Given the description of an element on the screen output the (x, y) to click on. 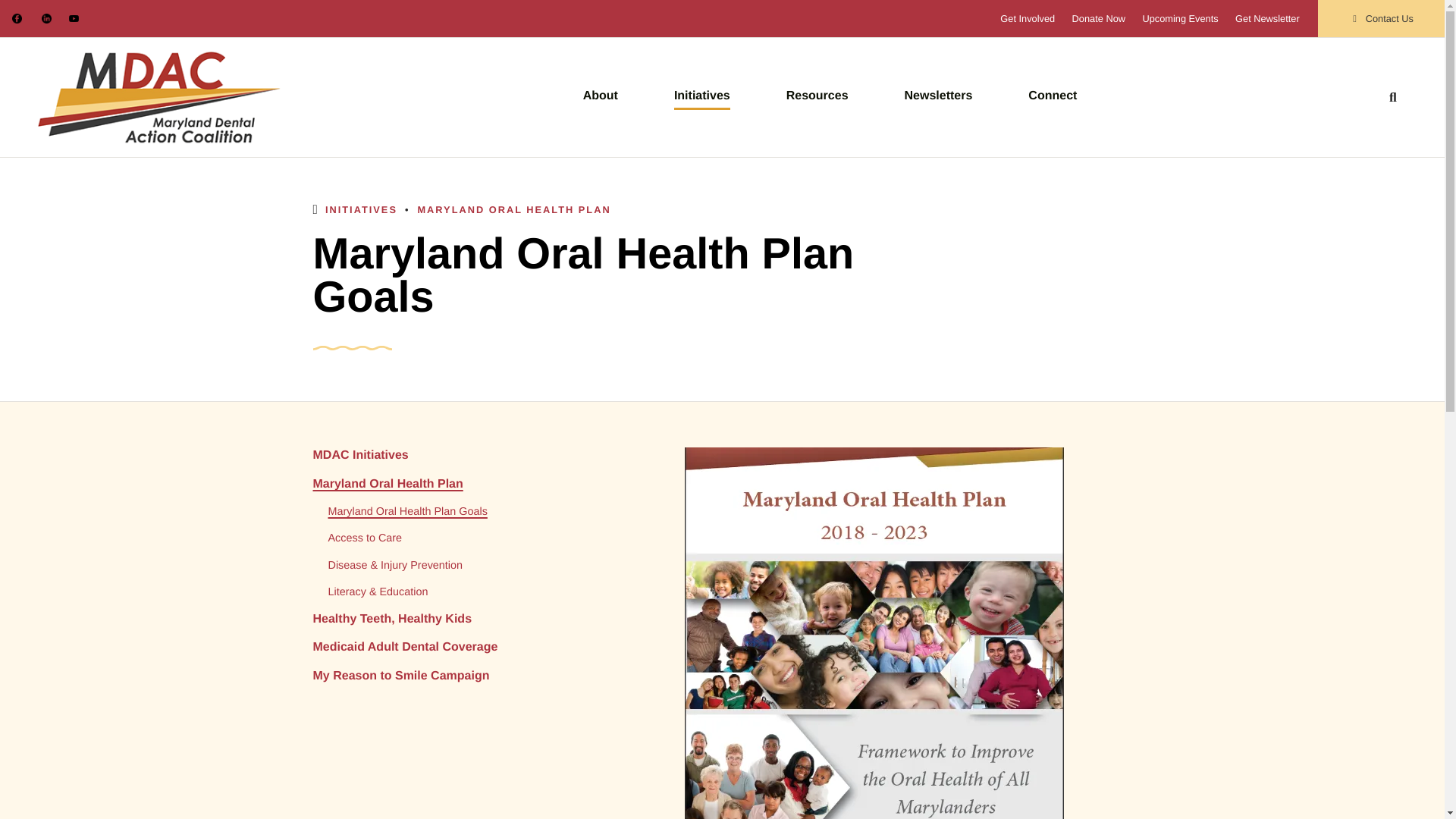
Get Involved (1027, 18)
Resources (817, 96)
logo (159, 96)
Get Newsletter (1267, 18)
Initiatives (702, 96)
Upcoming Events (1179, 18)
About (600, 96)
Newsletters (938, 96)
Donate Now (1098, 18)
